Given the description of an element on the screen output the (x, y) to click on. 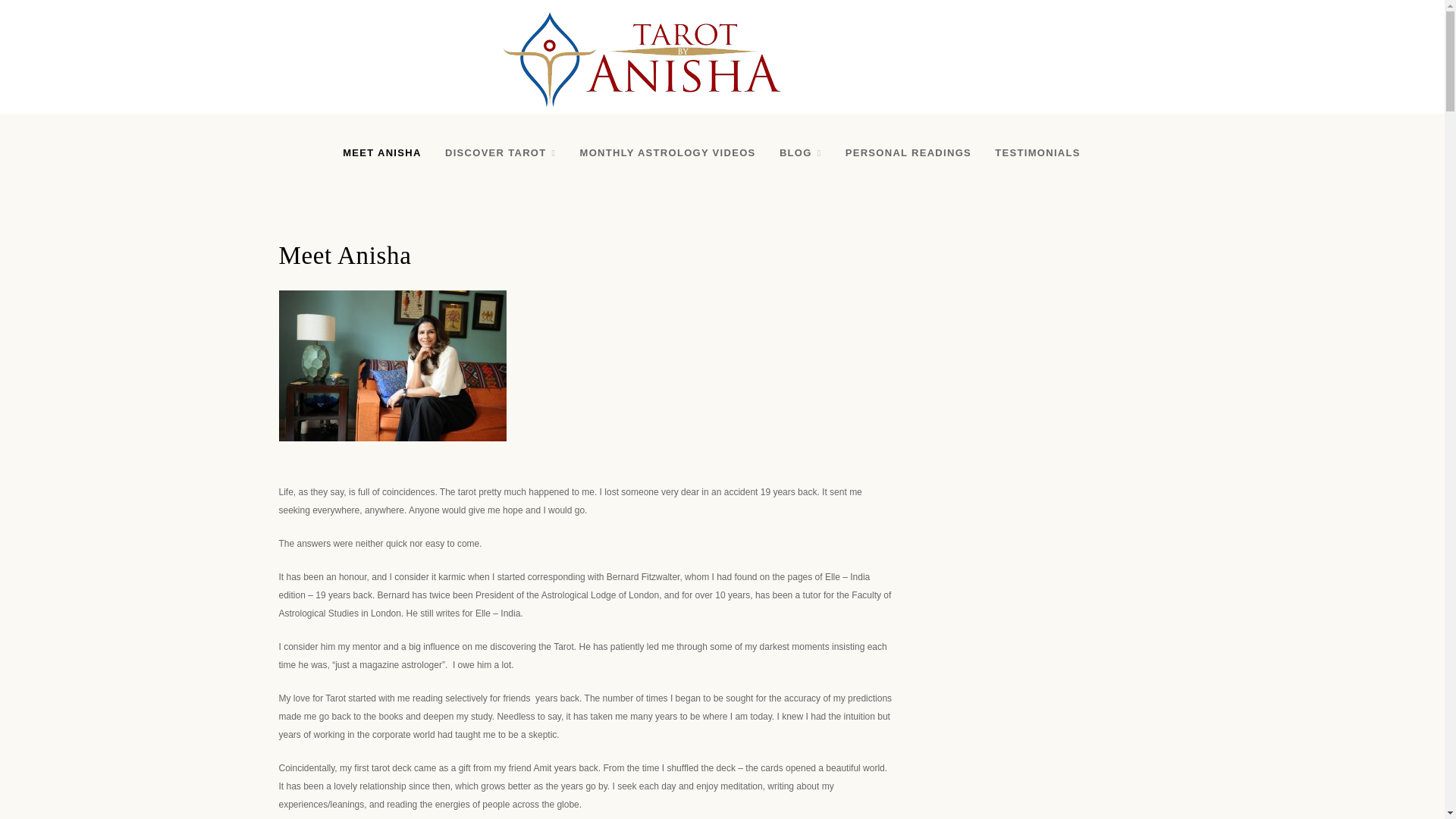
MONTHLY ASTROLOGY VIDEOS (667, 152)
MEET ANISHA (381, 152)
TESTIMONIALS (1037, 152)
DISCOVER TAROT (500, 152)
PERSONAL READINGS (908, 152)
